Given the description of an element on the screen output the (x, y) to click on. 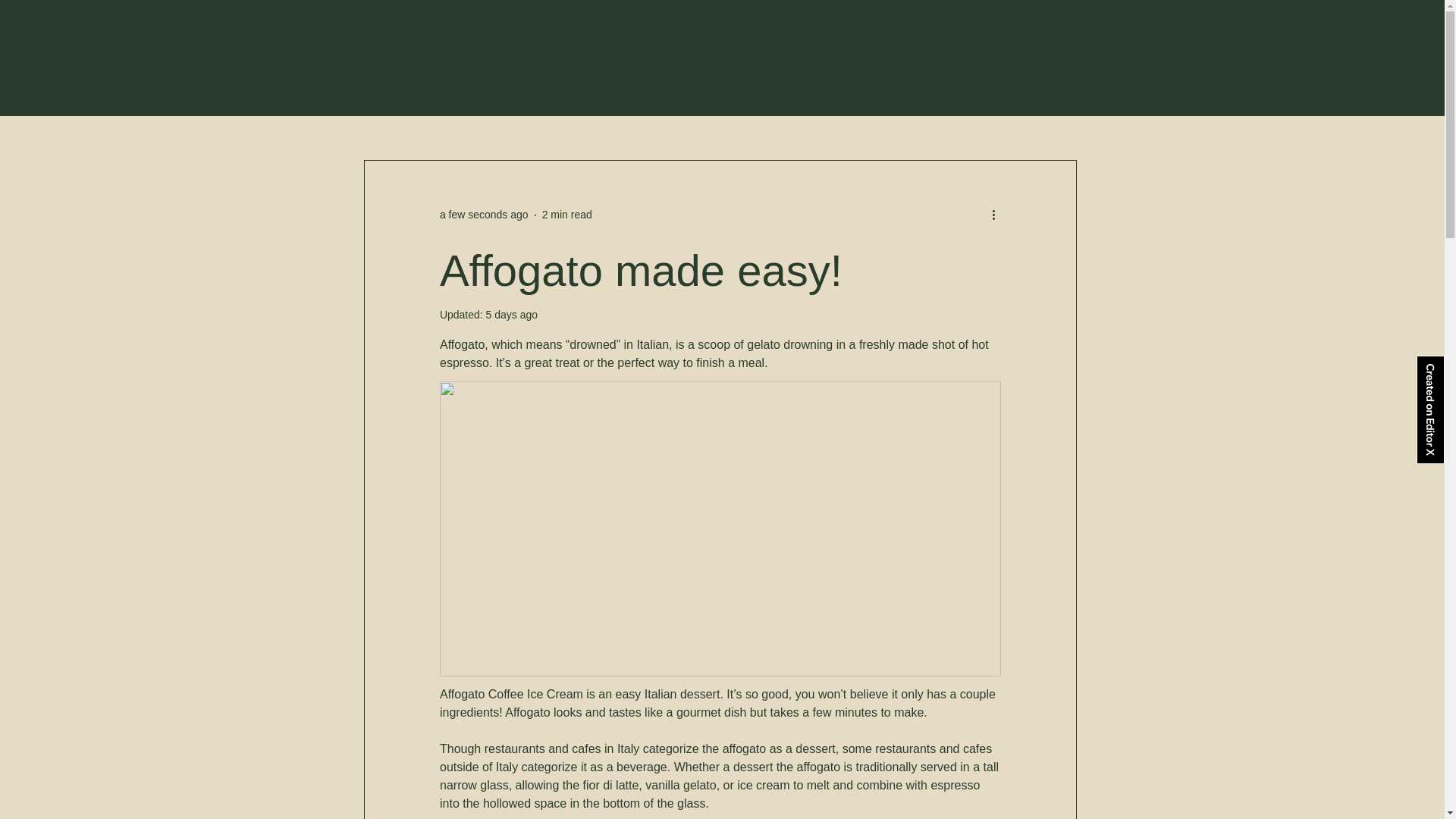
2 min read (566, 214)
5 days ago (512, 314)
a few seconds ago (483, 214)
